Given the description of an element on the screen output the (x, y) to click on. 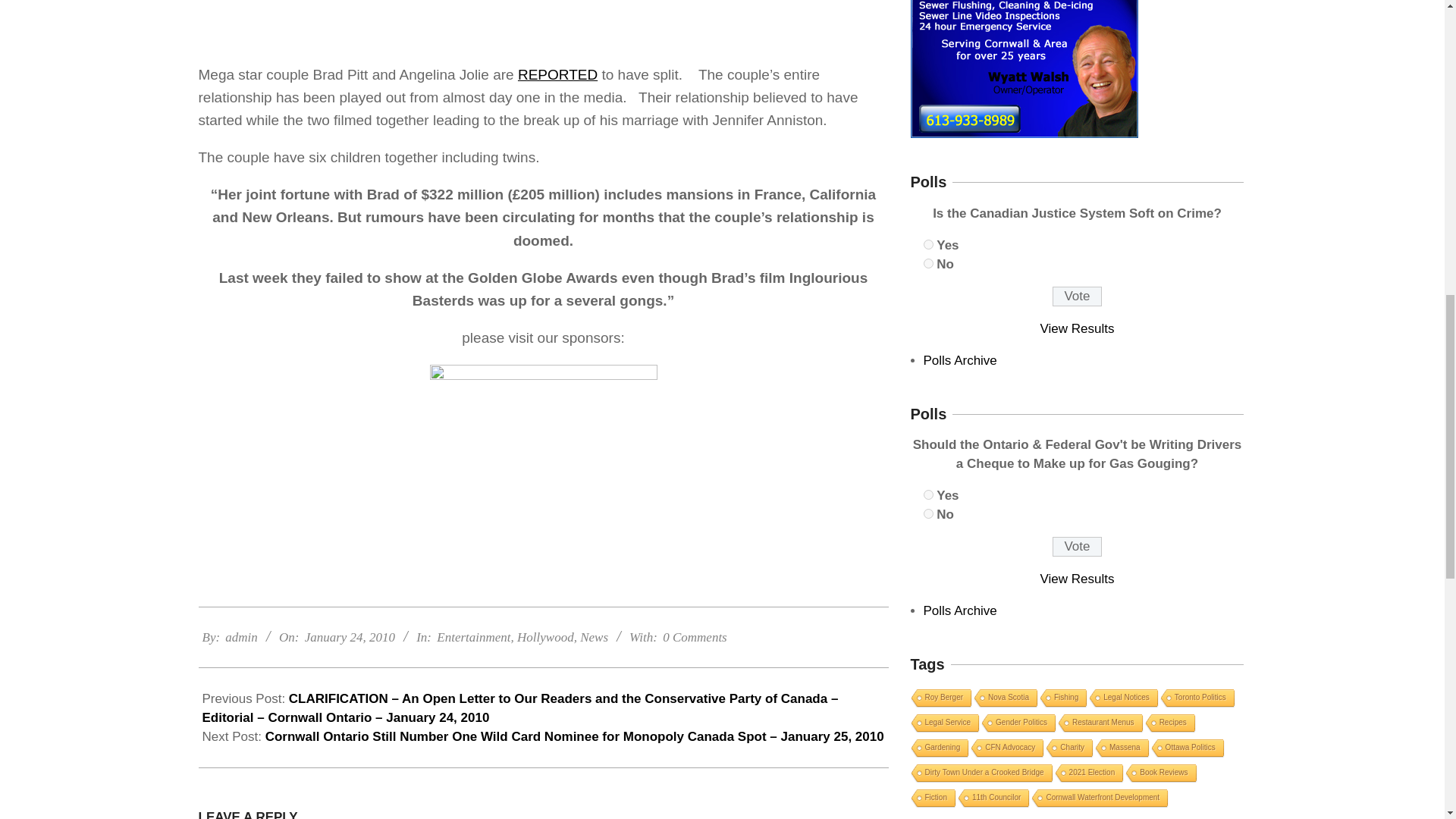
   Vote    (1076, 546)
View Results Of This Poll (1078, 328)
pittang (542, 24)
Posts by admin (241, 636)
1755 (928, 263)
1754 (928, 244)
1763 (928, 513)
Sunday, January 24, 2010, 7:24 pm (349, 636)
View Results Of This Poll (1078, 578)
1762 (928, 494)
